Given the description of an element on the screen output the (x, y) to click on. 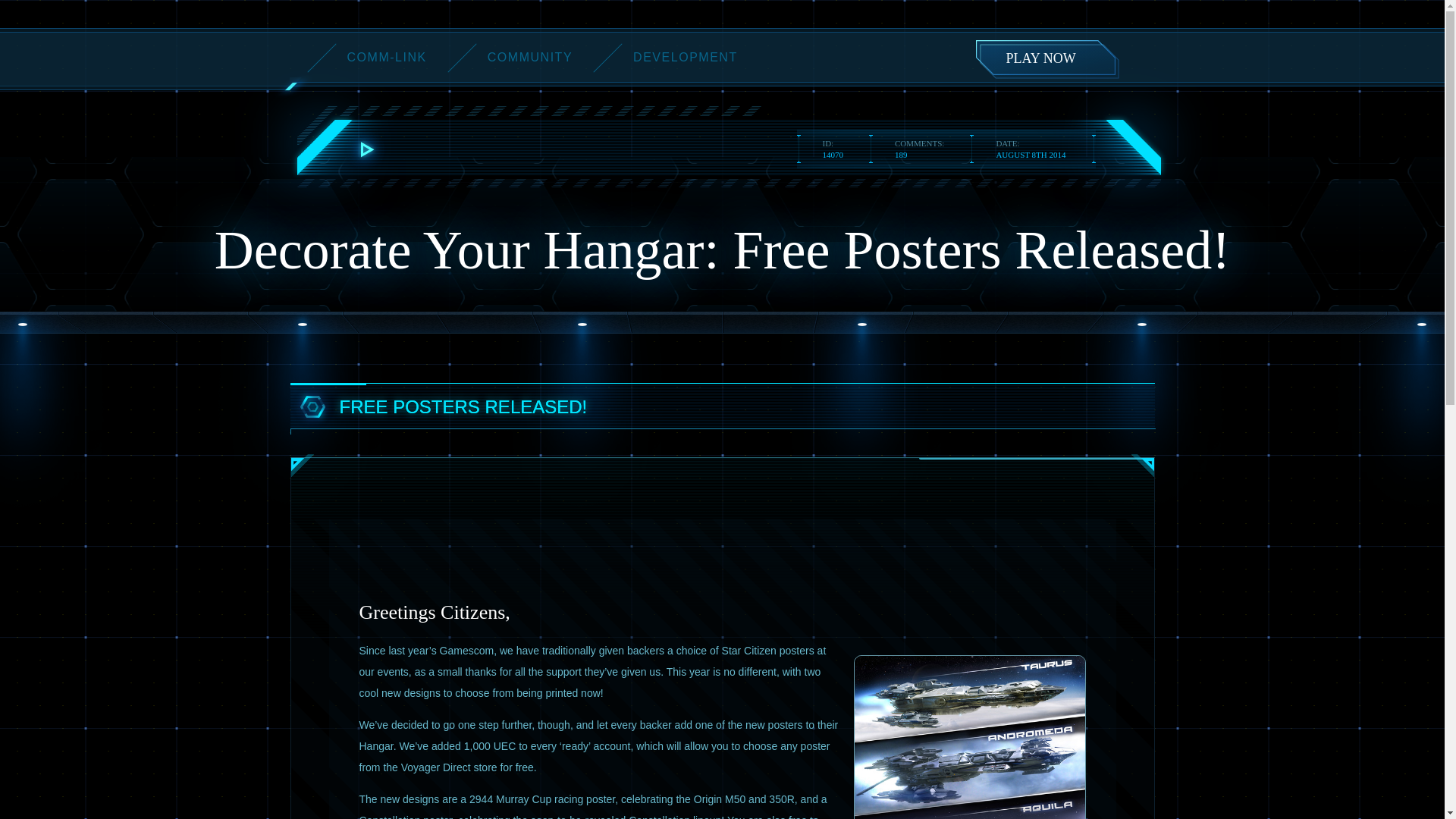
COMMUNITY (529, 56)
DEVELOPMENT (685, 56)
PLAY NOW (1044, 56)
COMM-LINK (386, 56)
